Given the description of an element on the screen output the (x, y) to click on. 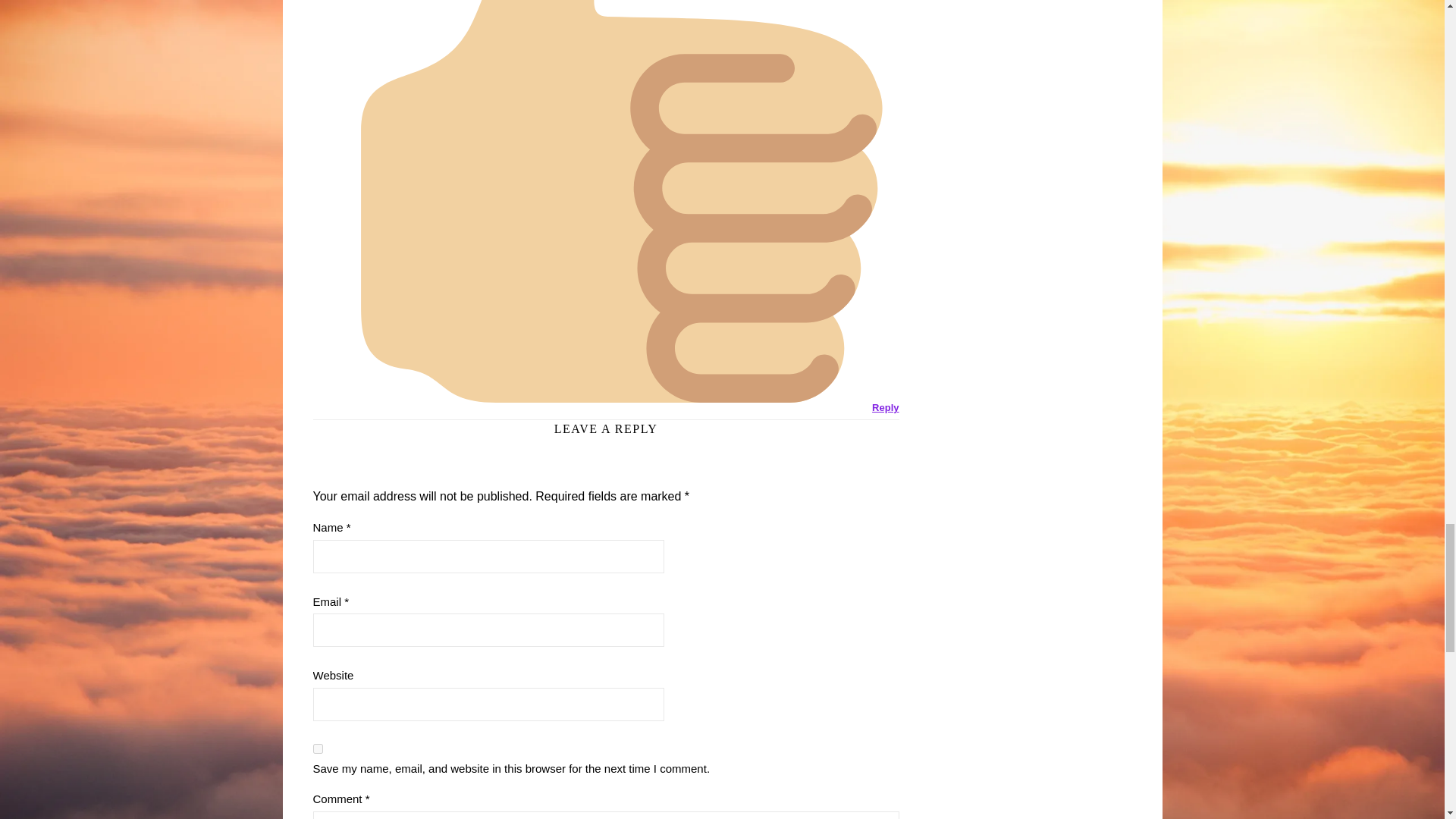
yes (317, 748)
Reply (885, 407)
